Given the description of an element on the screen output the (x, y) to click on. 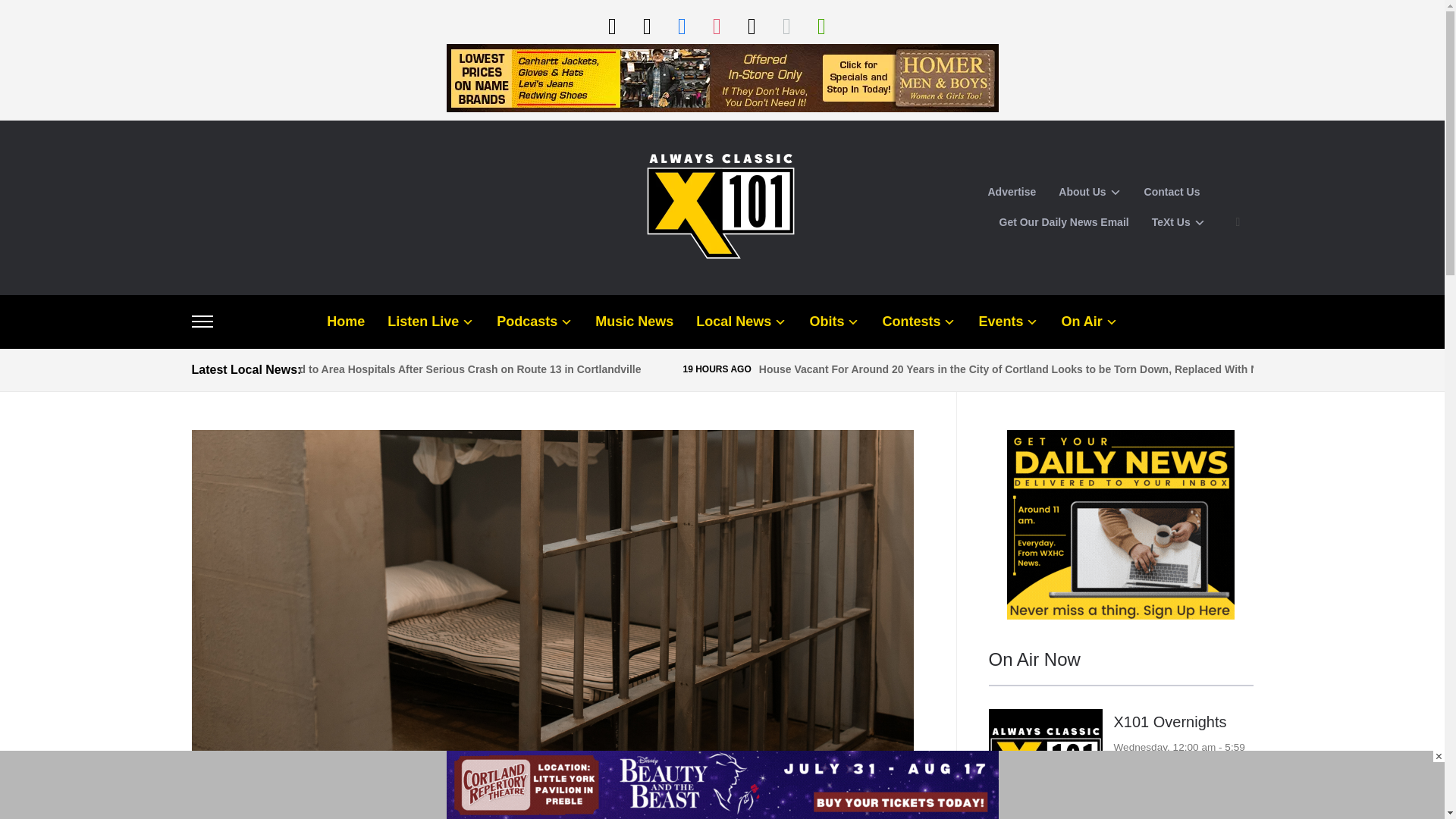
Listen Live (611, 24)
apple (785, 24)
Default Label (646, 24)
Instagram (715, 24)
play-circle-o (611, 24)
Facebook (680, 24)
x (750, 24)
instagram (715, 24)
facebook (680, 24)
About Us (1089, 192)
Advertise (1011, 192)
play (820, 24)
phone (646, 24)
Default Label (785, 24)
Default Label (820, 24)
